Given the description of an element on the screen output the (x, y) to click on. 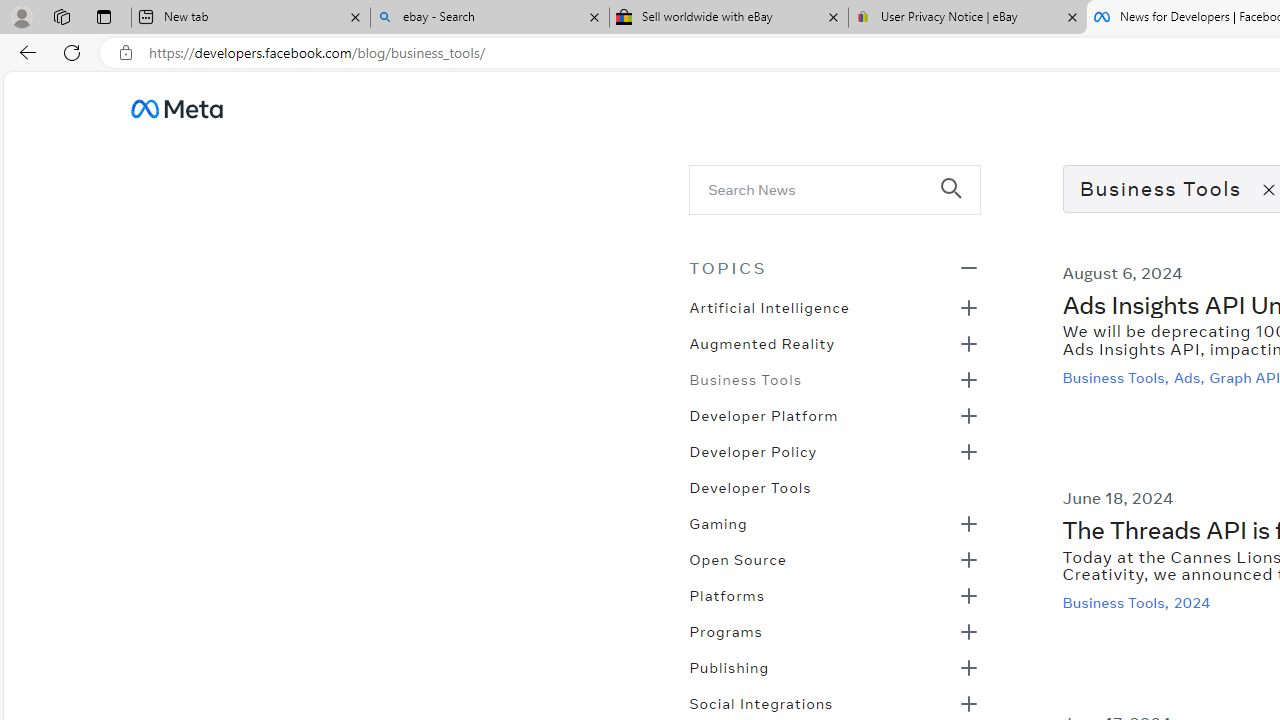
Developer Platform (763, 413)
